Given the description of an element on the screen output the (x, y) to click on. 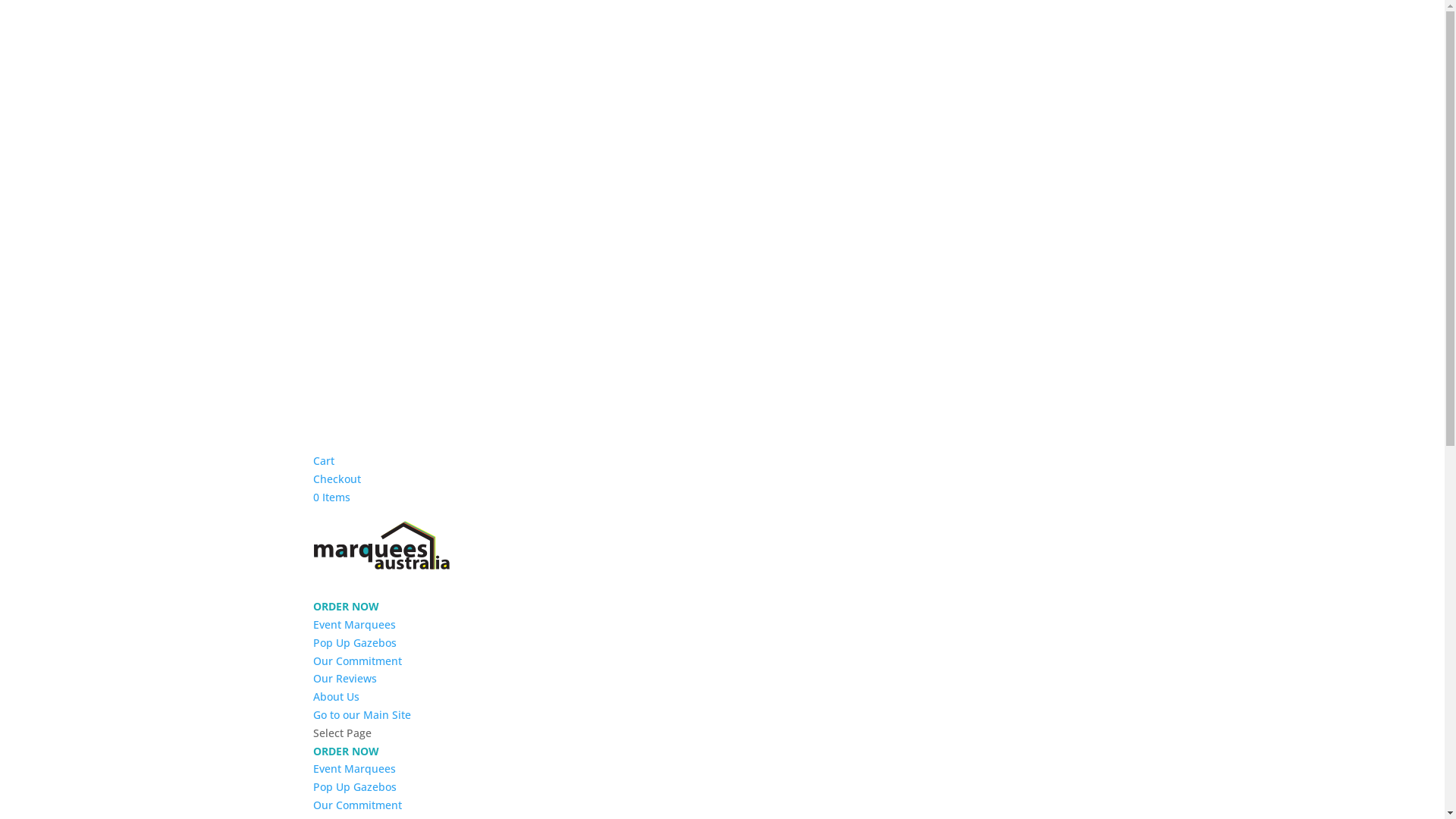
ORDER NOW Element type: text (345, 750)
Event Marquees Element type: text (353, 768)
Go to our Main Site Element type: text (361, 714)
Pop Up Gazebos Element type: text (353, 786)
About Us Element type: text (335, 696)
Checkout Element type: text (336, 478)
Pop Up Gazebos Element type: text (353, 642)
ORDER NOW Element type: text (345, 606)
Event Marquees Element type: text (353, 624)
Our Commitment Element type: text (356, 804)
Our Commitment Element type: text (356, 660)
0 Items Element type: text (330, 496)
Our Reviews Element type: text (344, 678)
Cart Element type: text (322, 460)
